Given the description of an element on the screen output the (x, y) to click on. 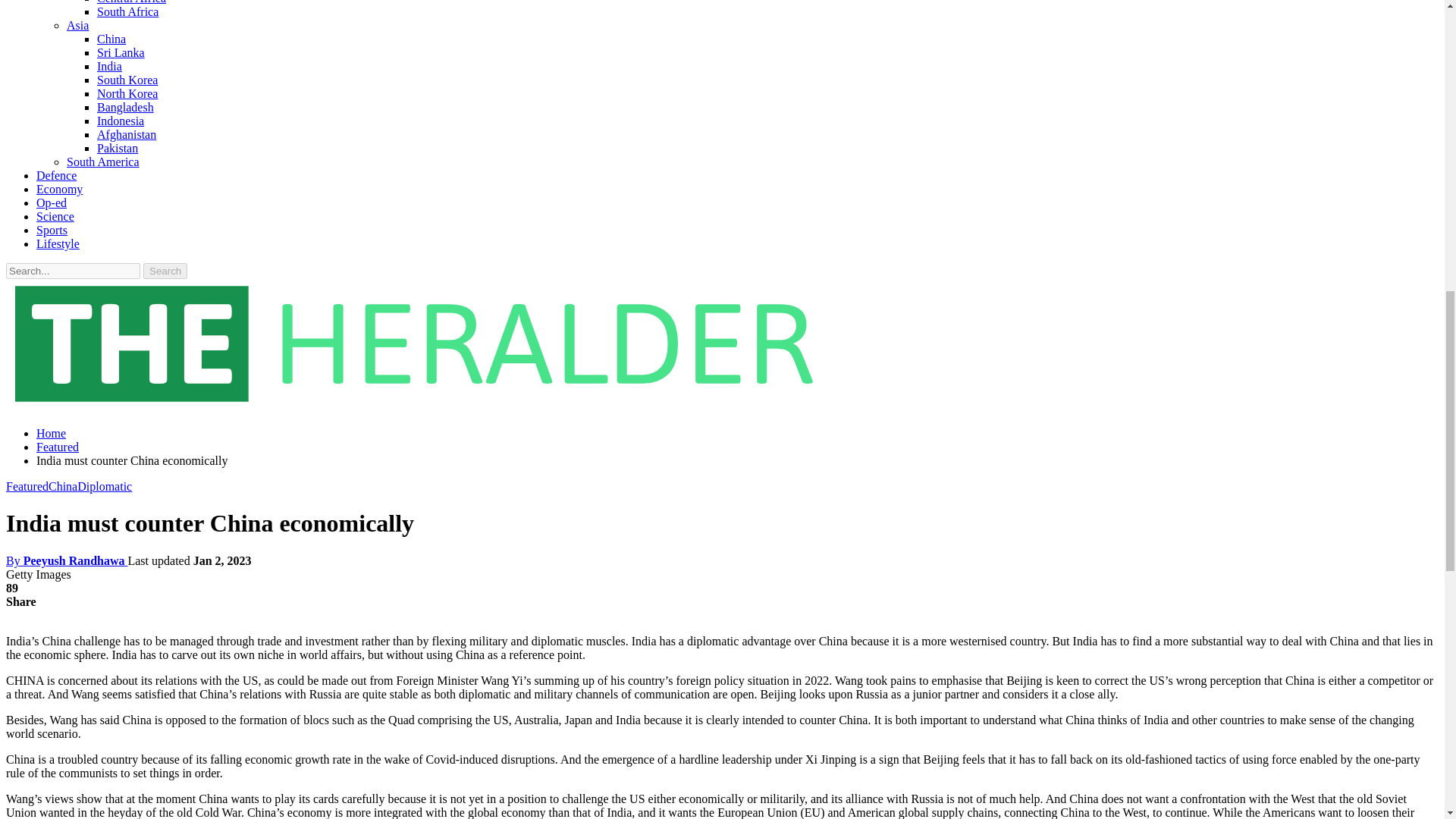
Central Africa (131, 2)
Search (164, 270)
South Africa (127, 11)
Search for: (72, 270)
Browse Author Articles (66, 560)
Search (164, 270)
